Given the description of an element on the screen output the (x, y) to click on. 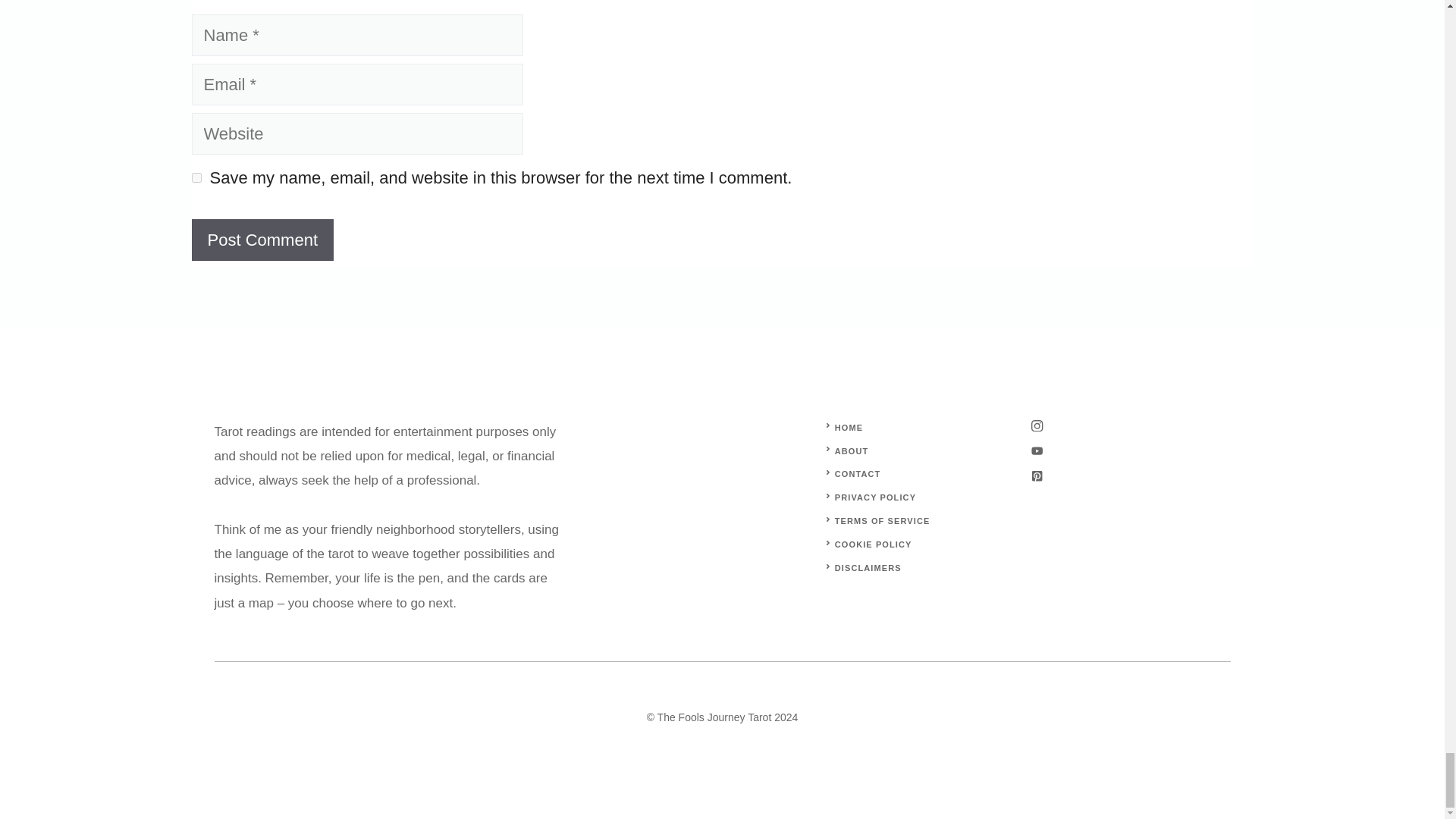
Post Comment (261, 240)
yes (195, 177)
